Given the description of an element on the screen output the (x, y) to click on. 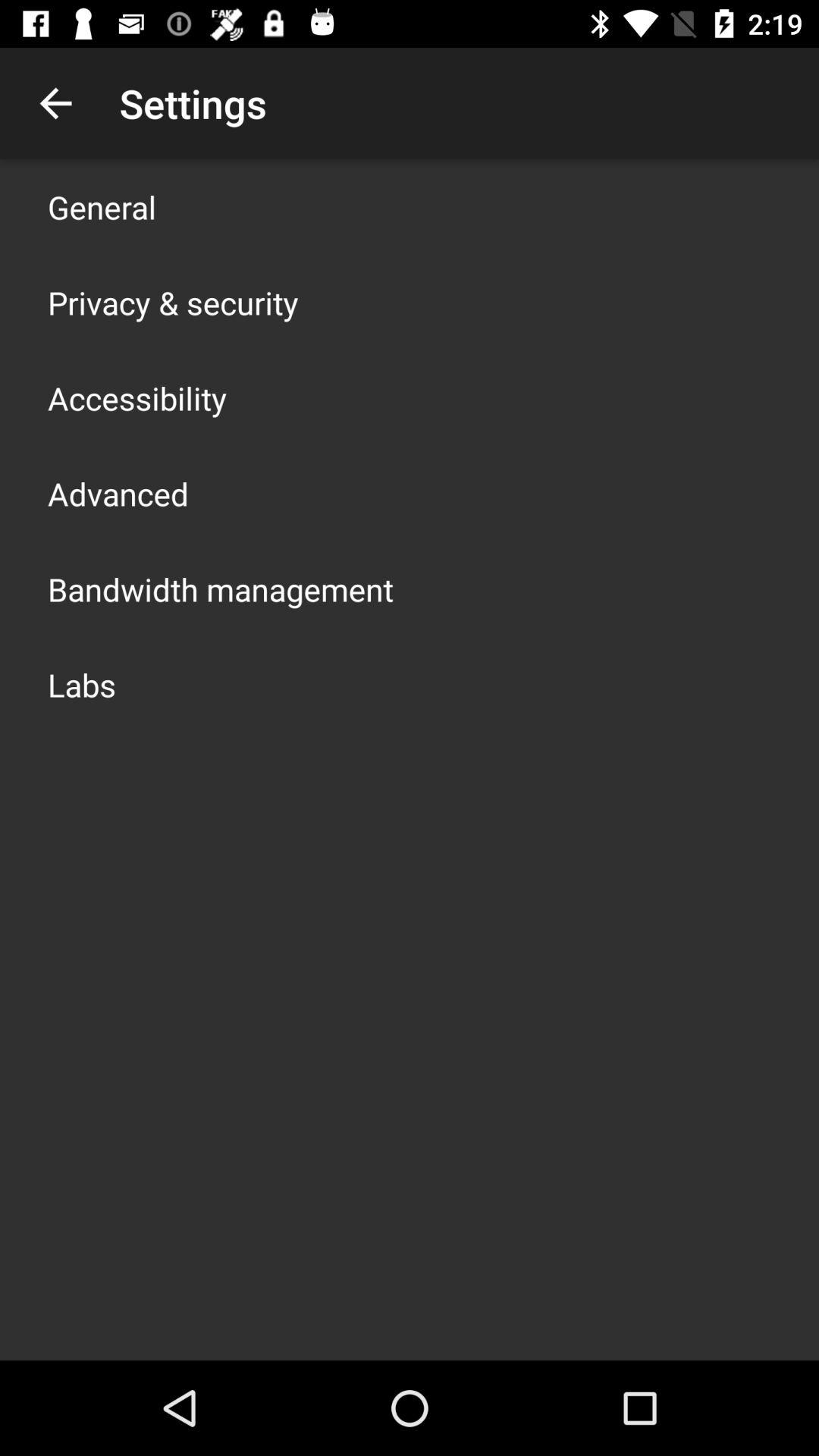
flip to bandwidth management icon (220, 588)
